Given the description of an element on the screen output the (x, y) to click on. 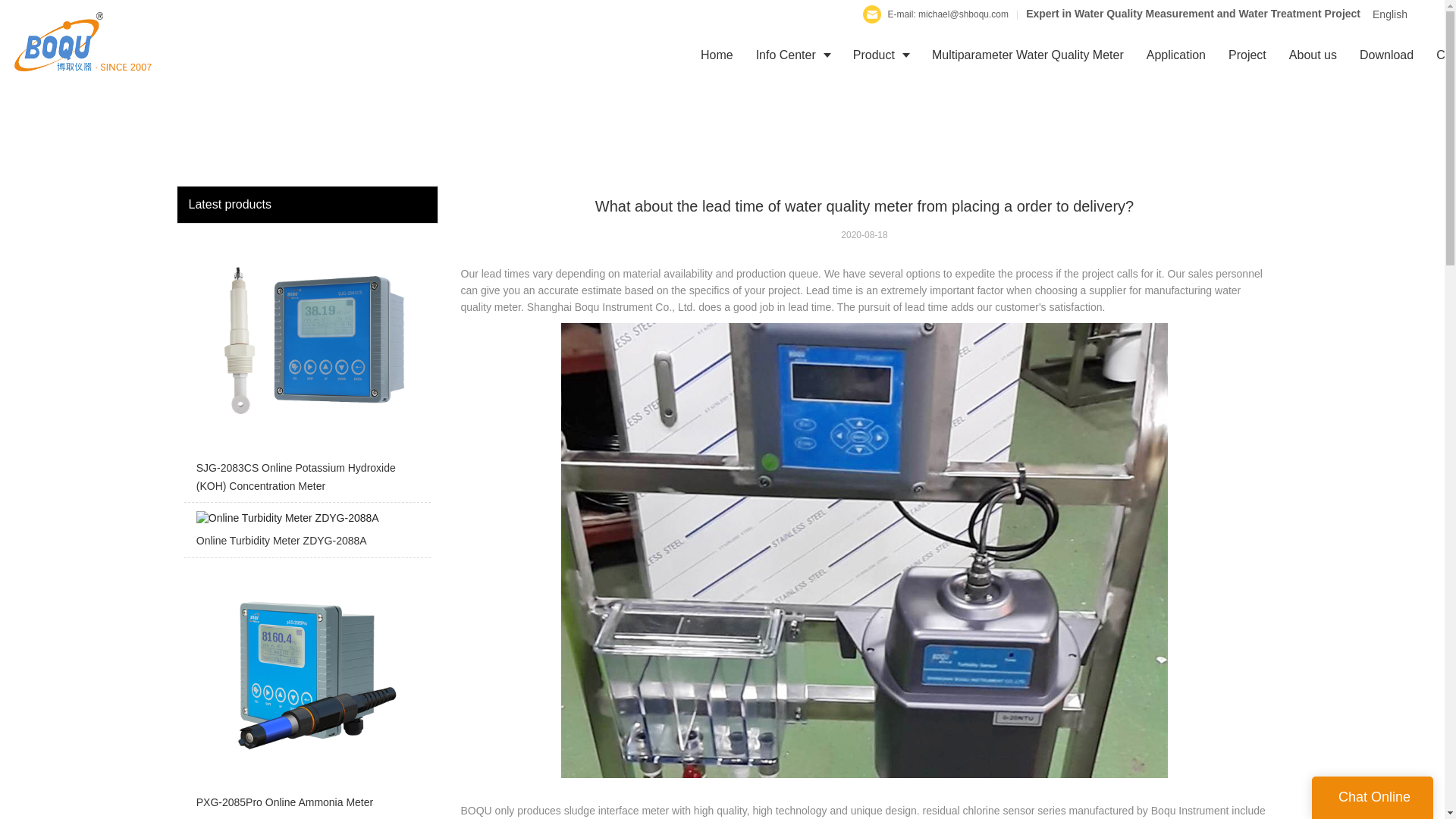
Product (880, 55)
Home (716, 55)
Info Center (792, 55)
